Given the description of an element on the screen output the (x, y) to click on. 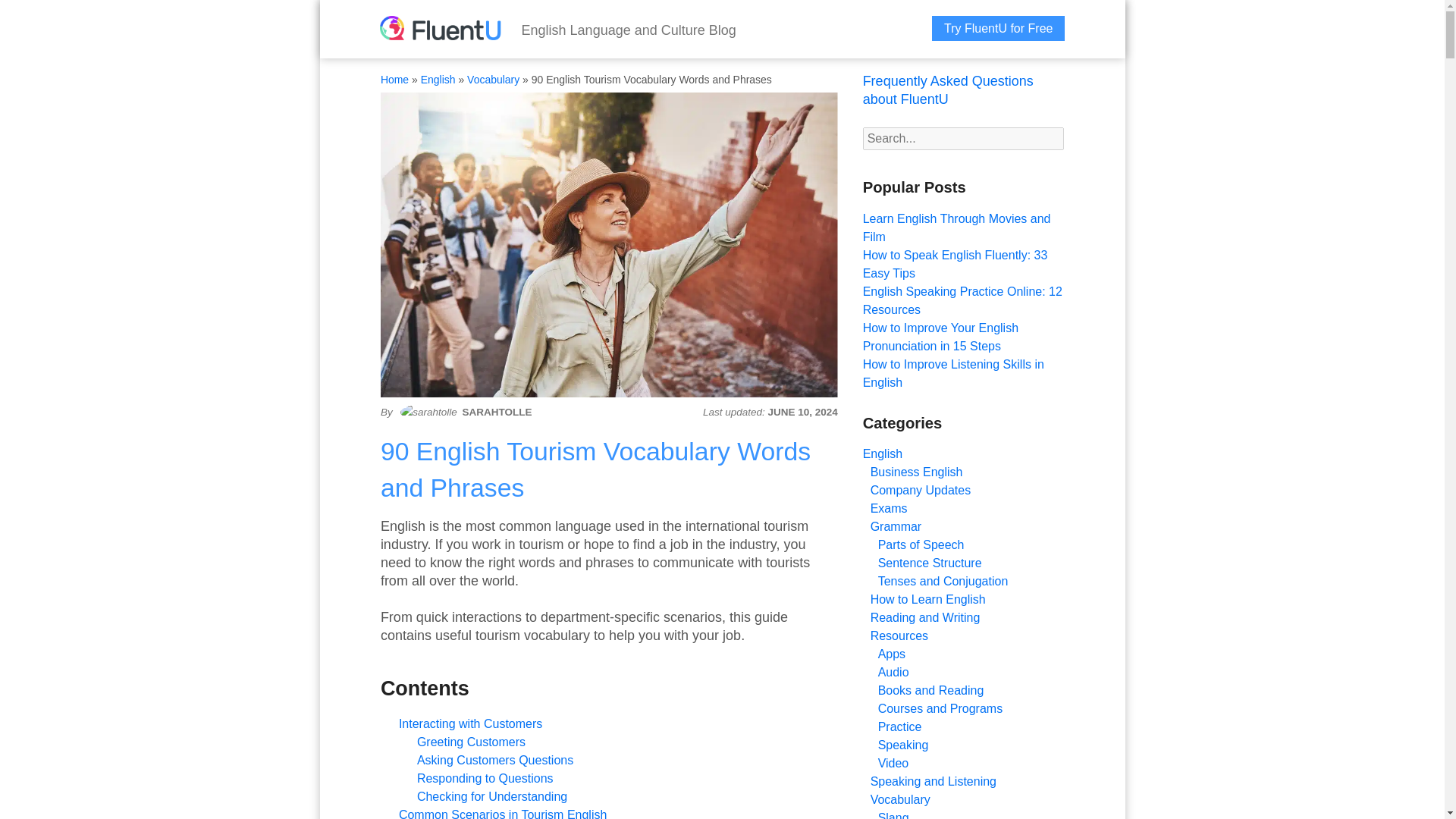
Common Scenarios in Tourism English (502, 813)
Vocabulary (493, 79)
To homepage (440, 30)
Interacting with Customers (469, 723)
Home (394, 79)
Checking for Understanding (491, 796)
SARAHTOLLE (496, 412)
English (437, 79)
Greeting Customers (470, 741)
English Language and Culture Blog (628, 30)
Responding to Questions (484, 778)
Try FluentU for Free (997, 27)
Asking Customers Questions  (496, 759)
